Given the description of an element on the screen output the (x, y) to click on. 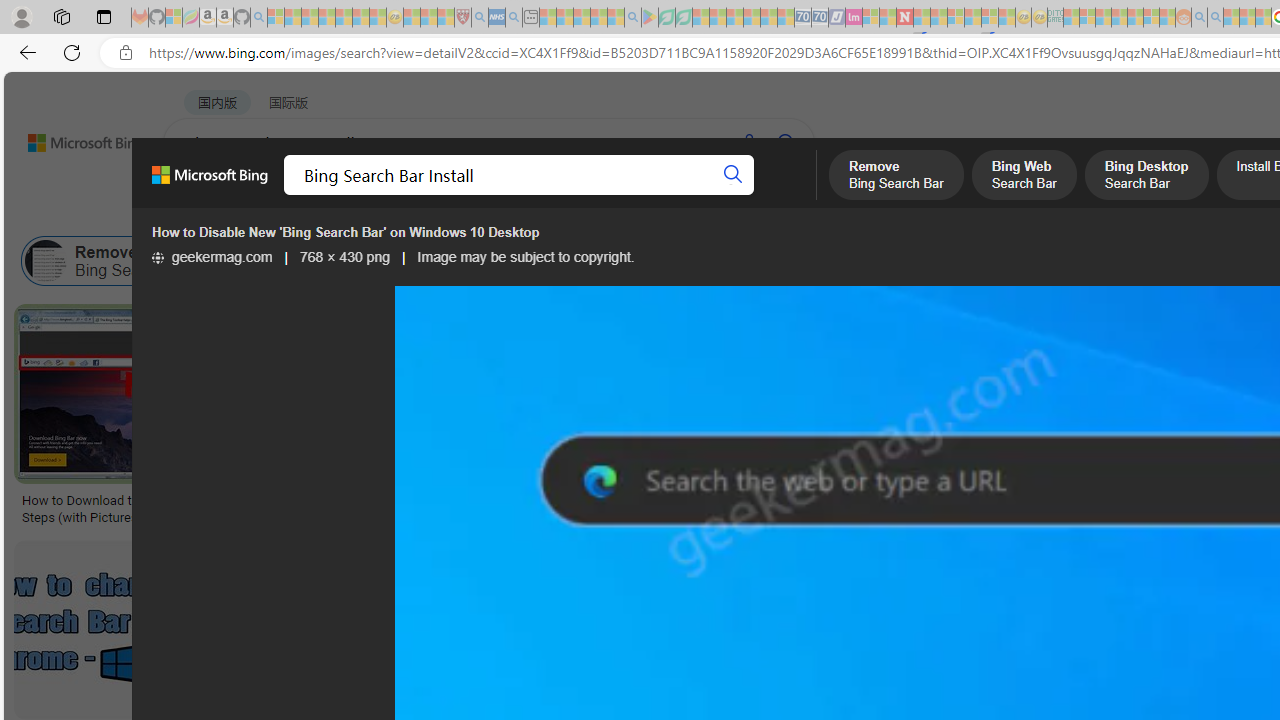
Class: b_pri_nav_svg (423, 196)
ACADEMIC (635, 195)
Install Bing as My Homepage (1170, 260)
Search button (732, 174)
